Given the description of an element on the screen output the (x, y) to click on. 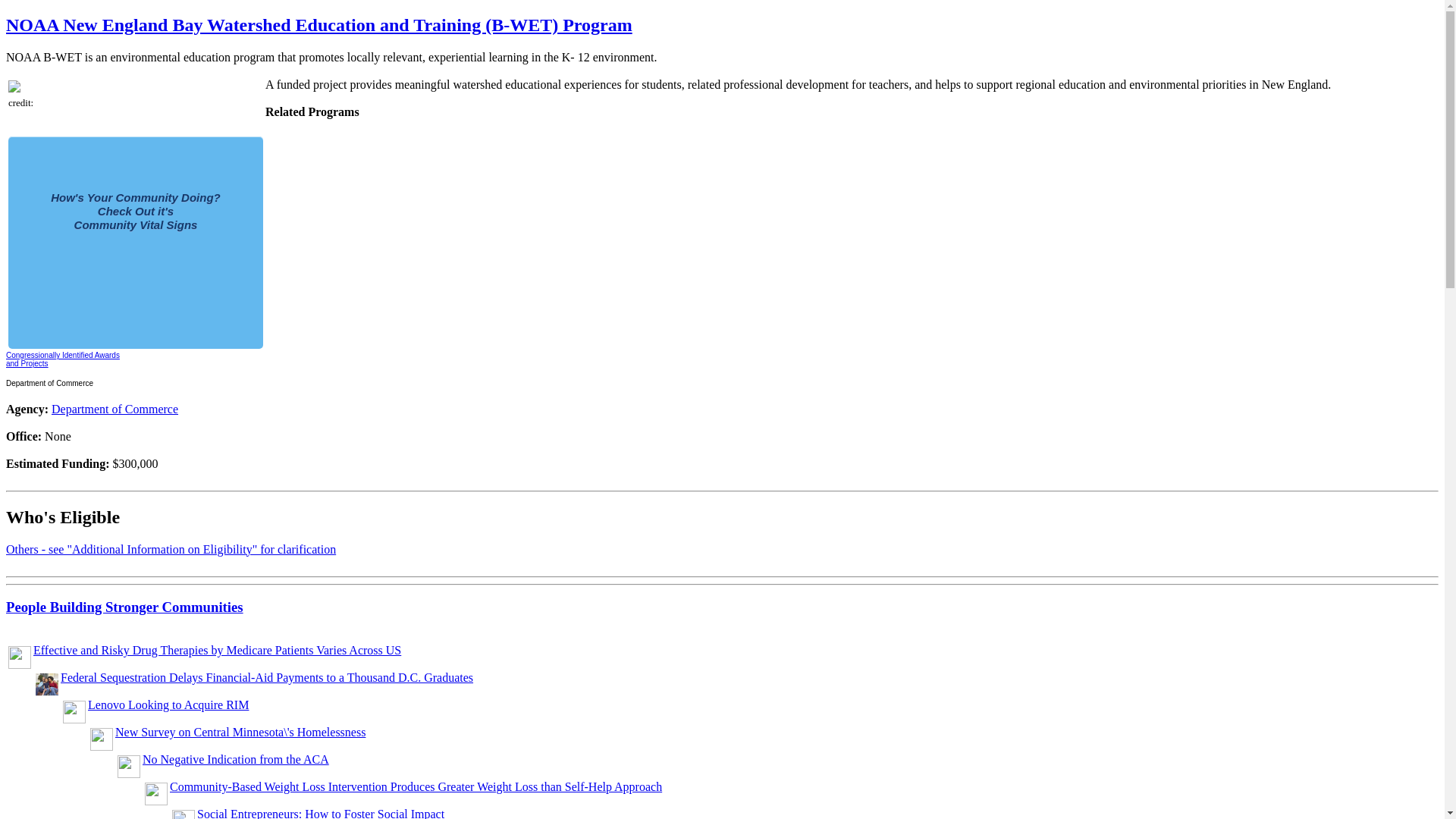
Social Entrepreneurs: How to Foster Social Impact (320, 813)
Congressionally Identified Awards and Projects (62, 359)
Lenovo Looking to Acquire RIM (167, 704)
People Building Stronger Communities (124, 606)
No Negative Indication from the ACA (235, 758)
Department of Commerce (113, 408)
